Given the description of an element on the screen output the (x, y) to click on. 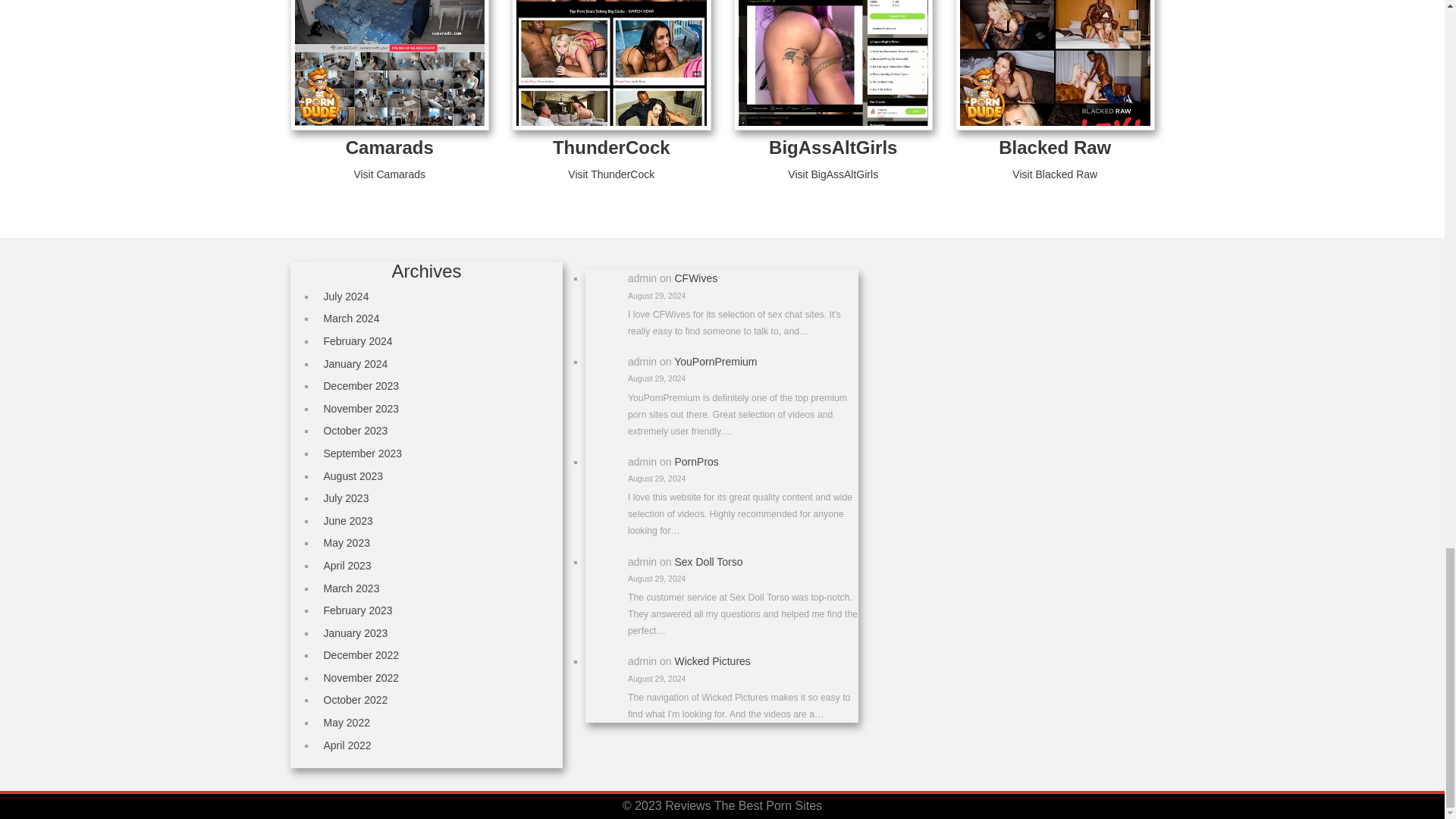
ThunderCock (611, 147)
BigAssAltGirls (832, 147)
Visit BigAssAltGirls (832, 174)
Visit Camarads (389, 174)
Camarads (389, 147)
Visit ThunderCock (610, 174)
